Given the description of an element on the screen output the (x, y) to click on. 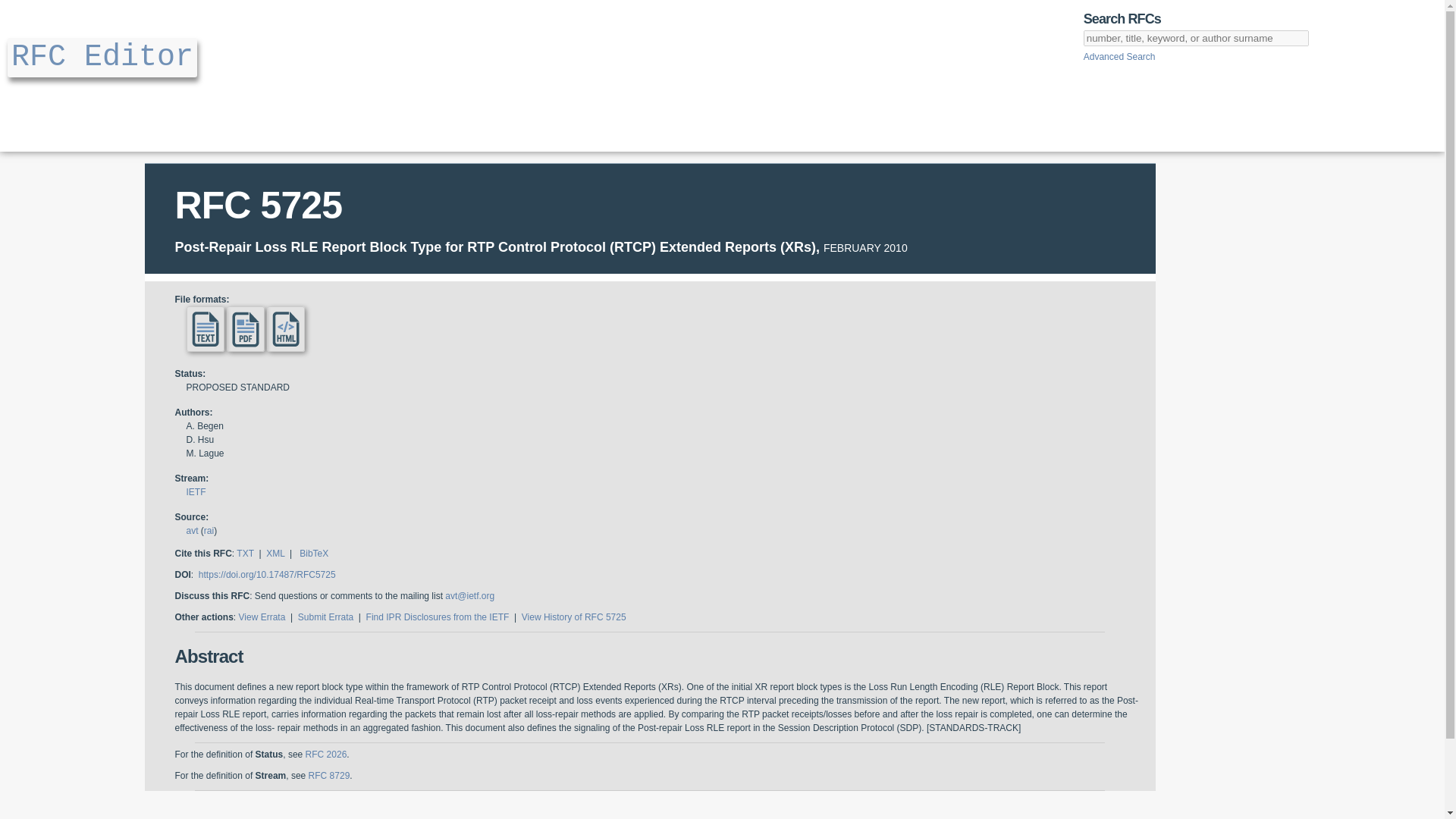
Find IPR Disclosures from the IETF (437, 616)
RFC 5725 (258, 205)
text (205, 329)
avt (192, 530)
RFC Editor (101, 56)
Submit Errata (325, 616)
rai (208, 530)
BibTeX (314, 552)
RFC 2026 (326, 754)
View History of RFC 5725 (573, 616)
XML (274, 552)
RFC 8729 (329, 775)
TXT (244, 552)
PDF (245, 329)
IETF (196, 491)
